Given the description of an element on the screen output the (x, y) to click on. 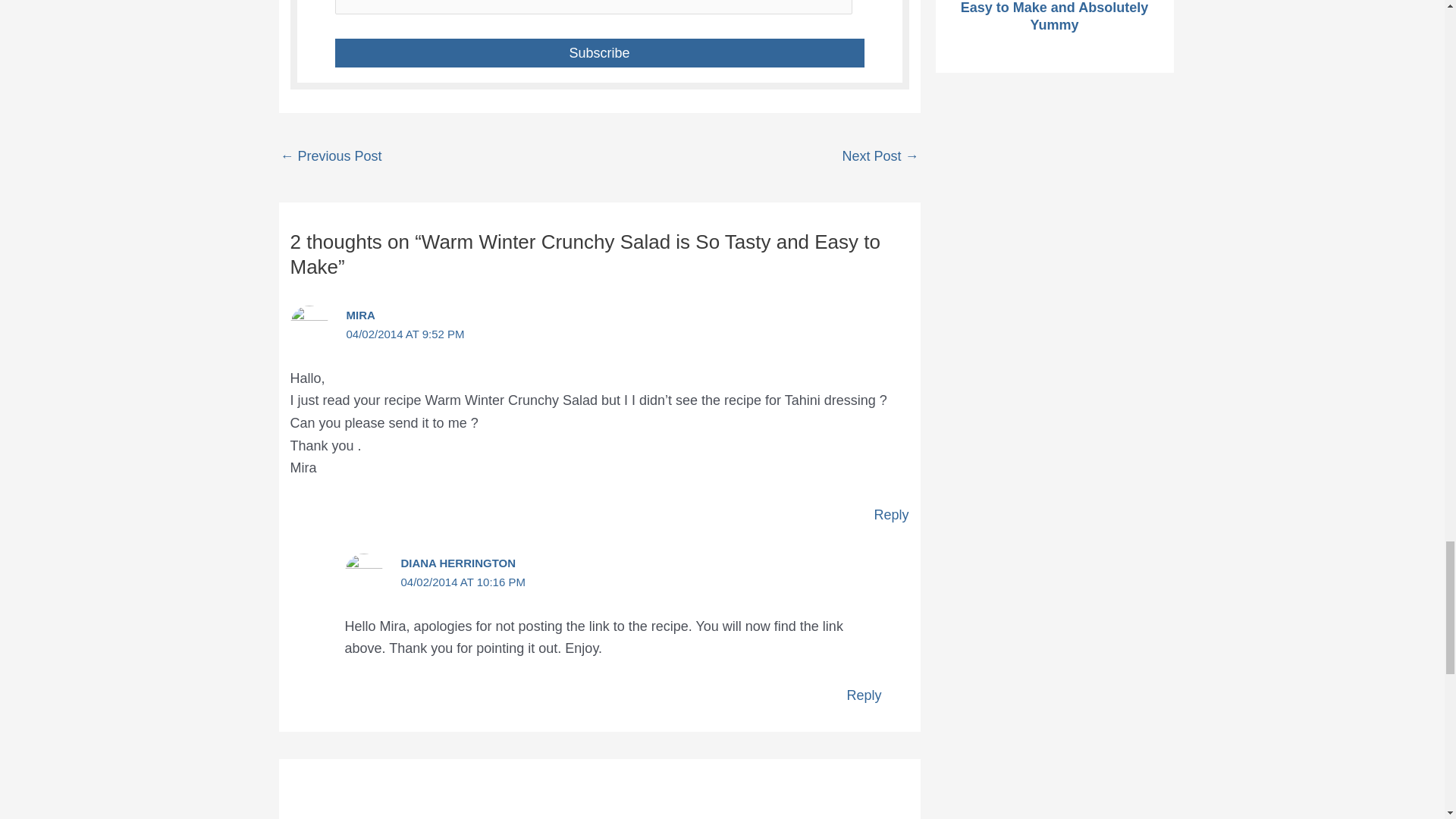
Types of Cabbage (331, 157)
Subscribe (599, 52)
Cabbage Face Mask (879, 157)
